Given the description of an element on the screen output the (x, y) to click on. 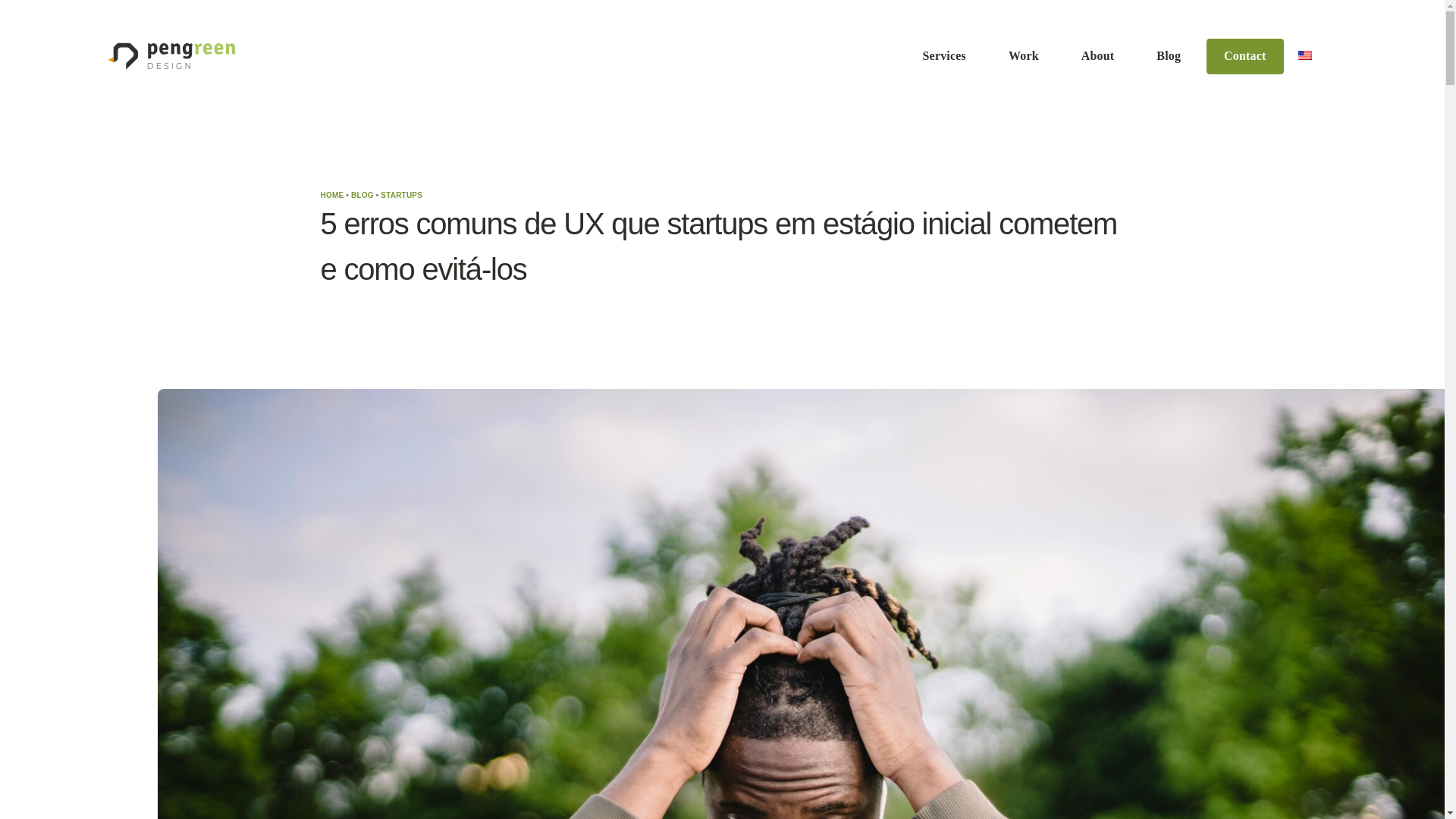
'English' (1304, 54)
Work (1024, 55)
Services (943, 55)
Contact (1245, 55)
BLOG (362, 194)
HOME (331, 194)
Blog (1169, 55)
About (1097, 55)
STARTUPS (401, 194)
